Given the description of an element on the screen output the (x, y) to click on. 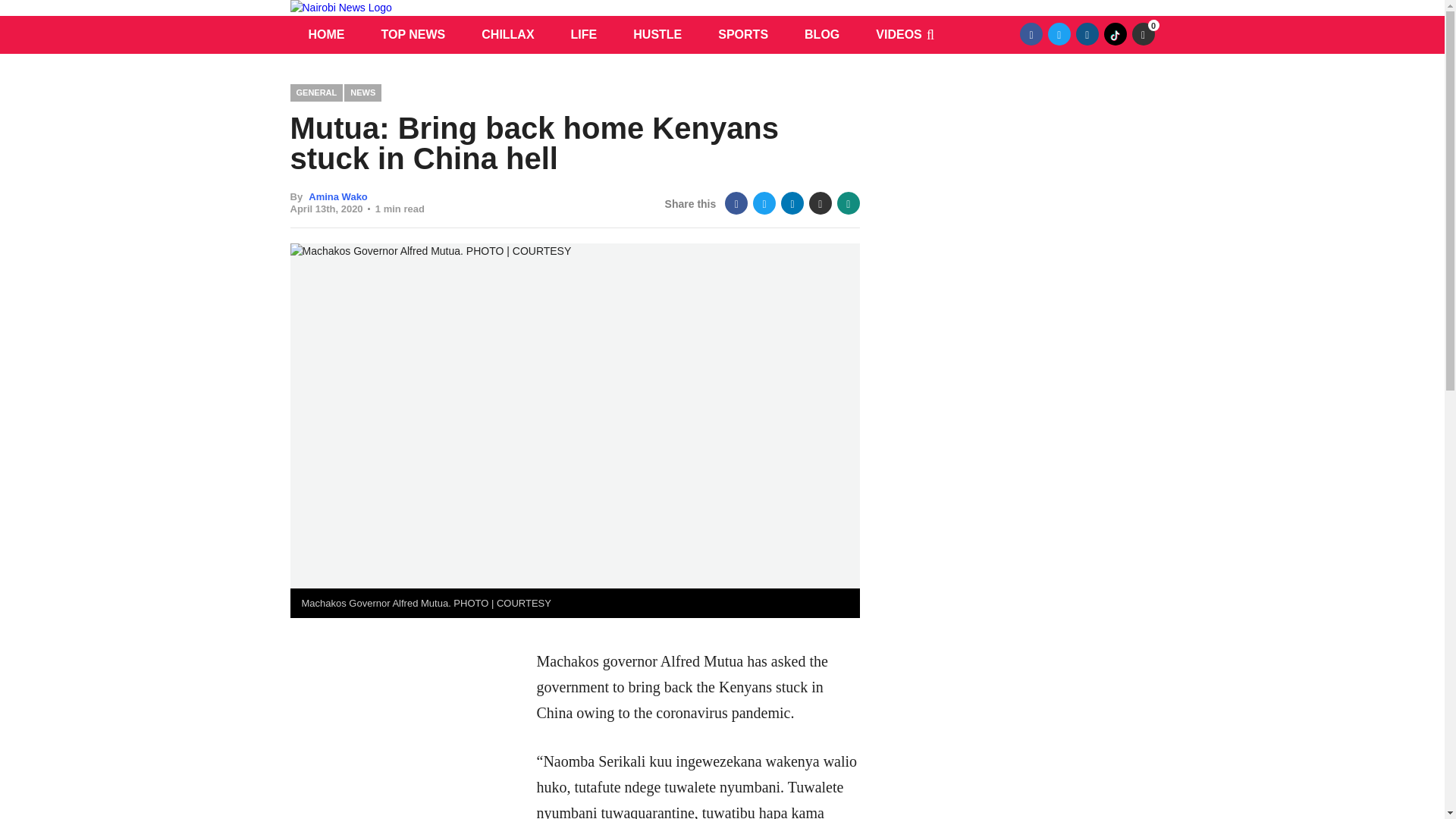
Facebook (736, 201)
Twitter (764, 201)
NEWS (362, 92)
HUSTLE (657, 34)
TikTok (1114, 33)
Amina Wako (338, 196)
CHILLAX (507, 34)
LIFE (584, 34)
GENERAL (315, 92)
WhatsApp (848, 201)
